Given the description of an element on the screen output the (x, y) to click on. 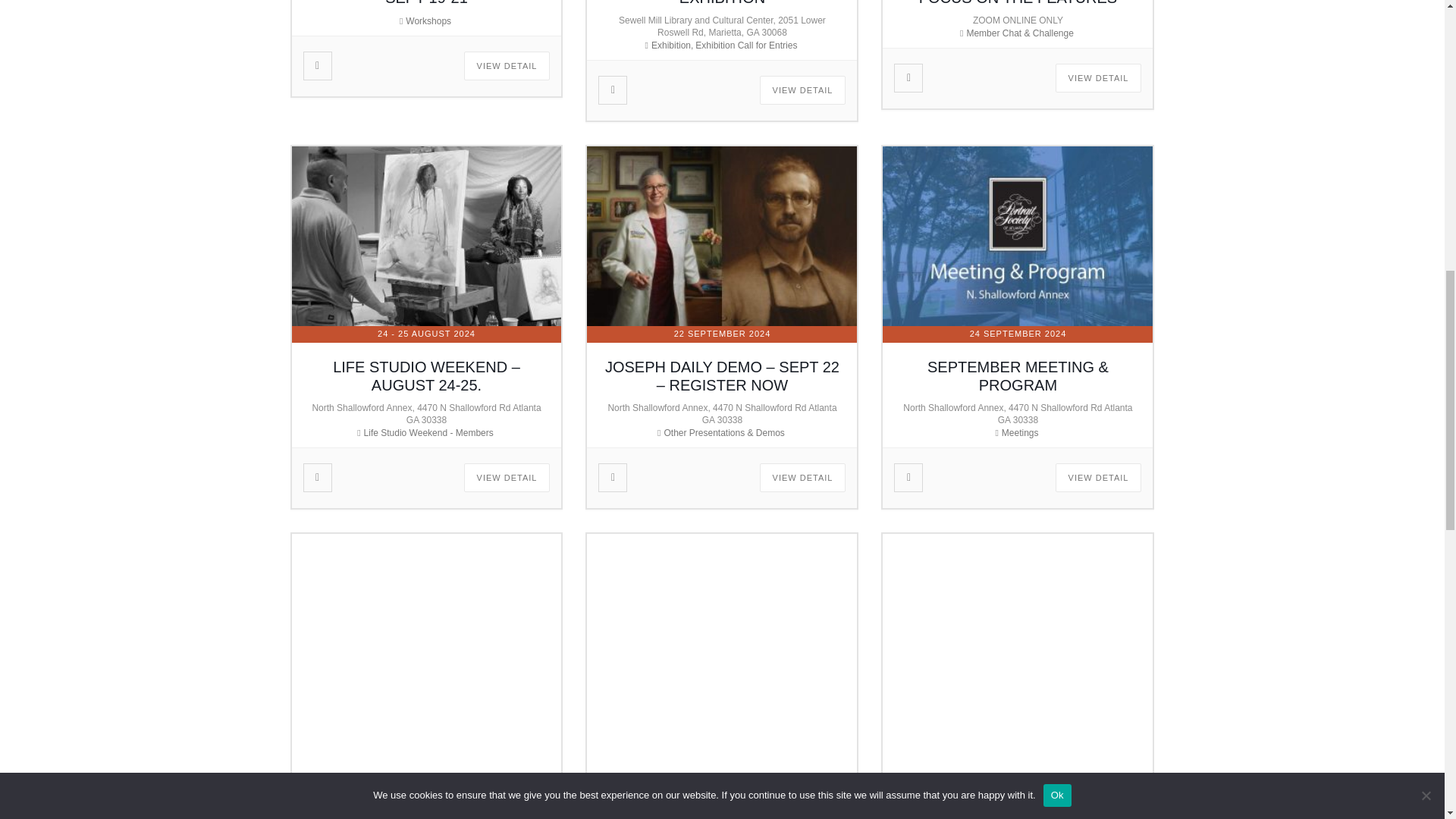
Share (612, 90)
Share (316, 65)
